Given the description of an element on the screen output the (x, y) to click on. 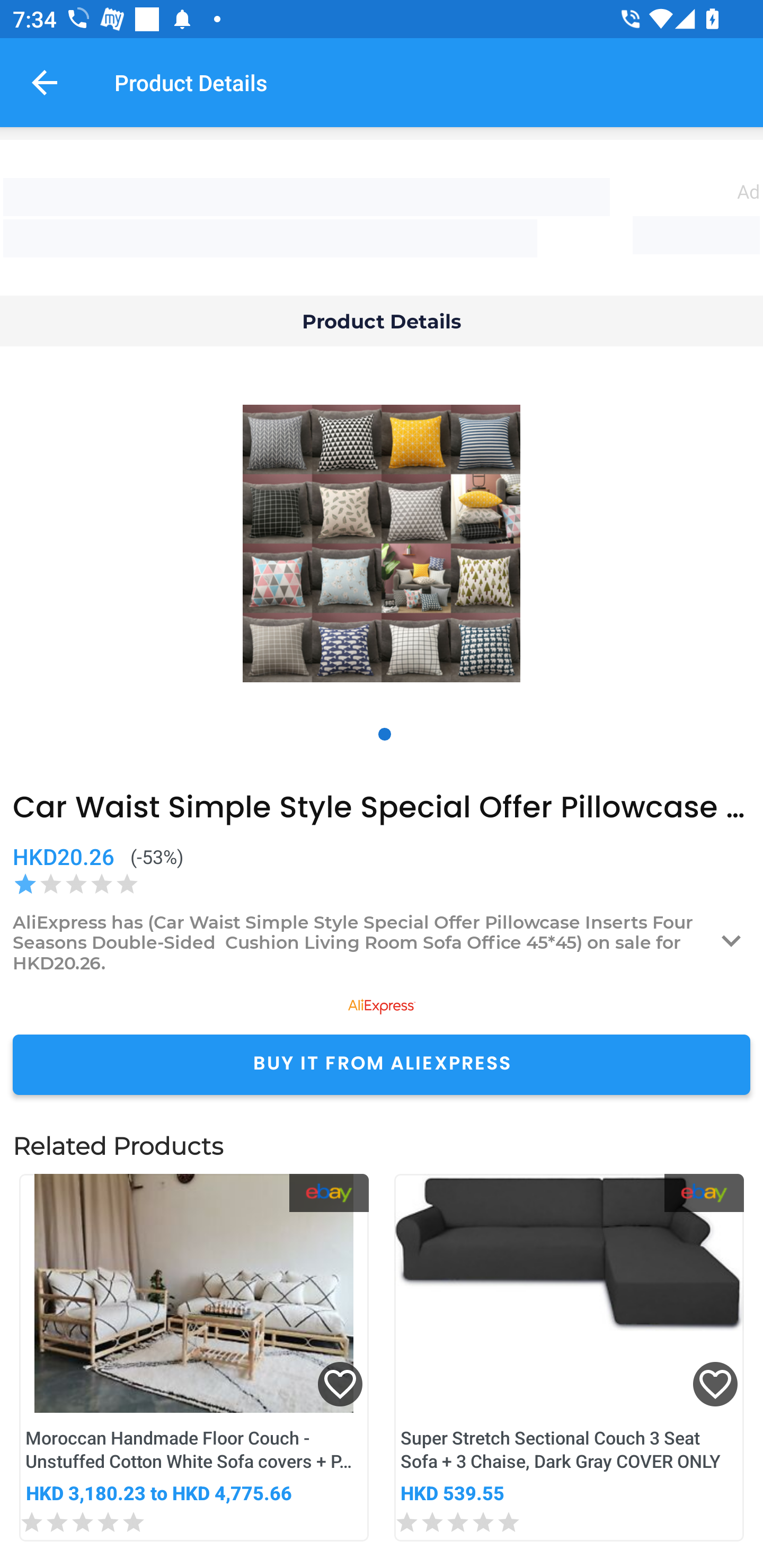
Navigate up (44, 82)
BUY IT FROM ALIEXPRESS (381, 1064)
